Given the description of an element on the screen output the (x, y) to click on. 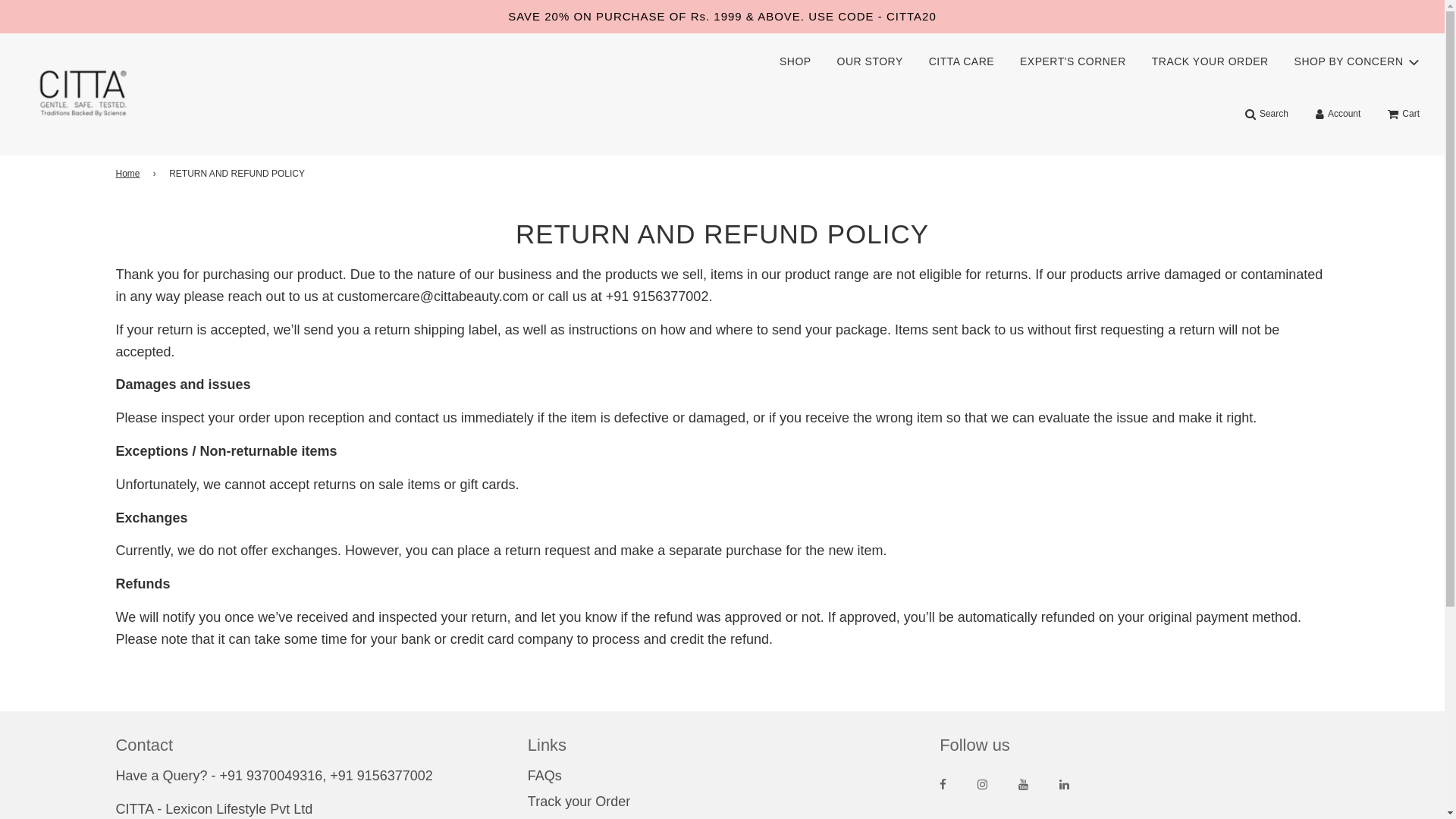
TRACK YOUR ORDER (1209, 61)
Search (1266, 114)
Log in (1337, 114)
Account (1337, 114)
Back to the frontpage (129, 173)
OUR STORY (869, 61)
CITTA CARE (961, 61)
SHOP BY CONCERN (1357, 61)
EXPERT'S CORNER (1073, 61)
Cart (1403, 114)
SHOP (795, 61)
